Given the description of an element on the screen output the (x, y) to click on. 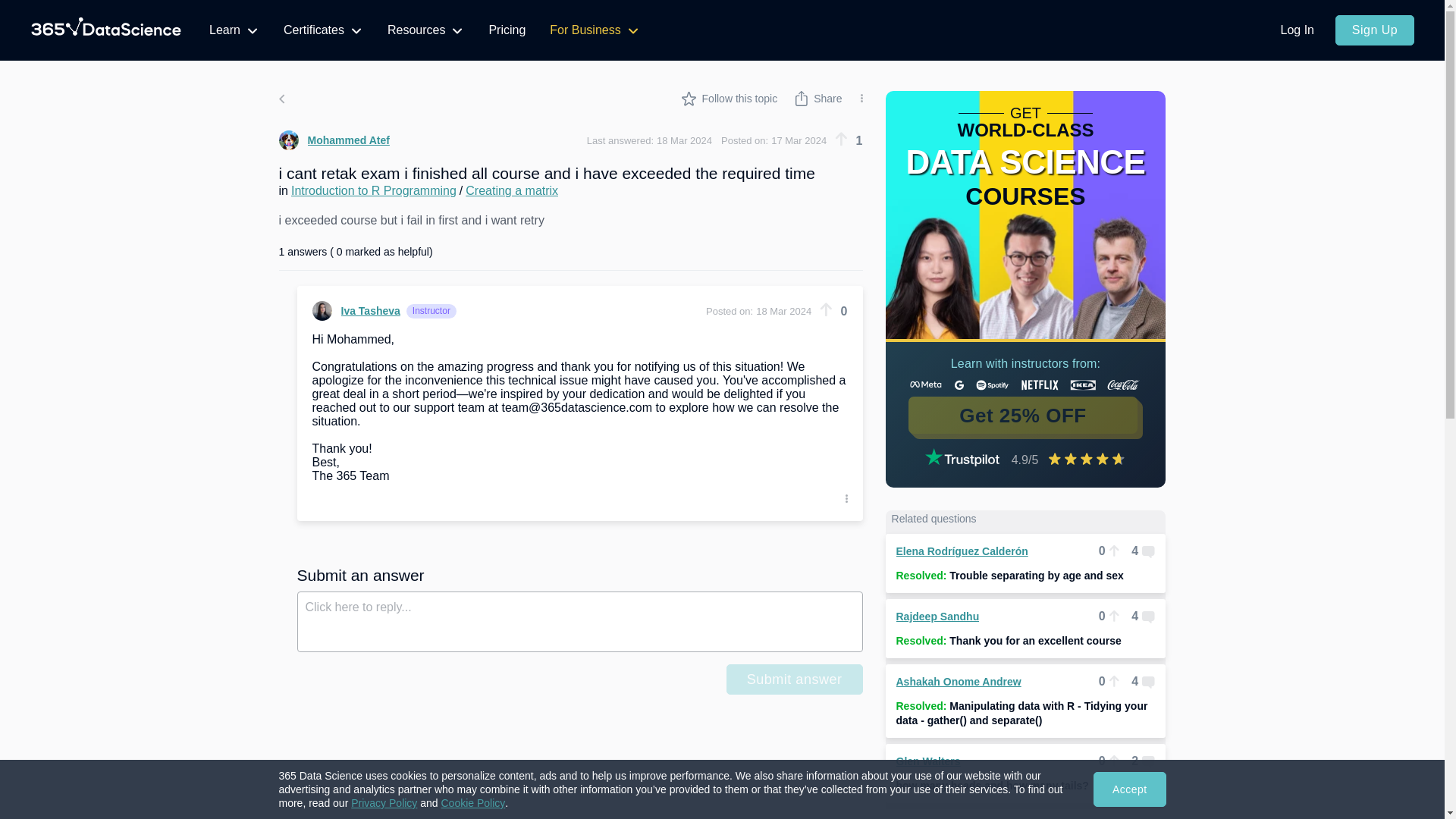
Sign Up (1374, 30)
Pricing (506, 29)
Log In (1296, 29)
Iva Tasheva (356, 311)
Pricing (506, 29)
Introduction to R Programming (374, 191)
Mohammed Atef (334, 139)
365 Data Science (106, 30)
Creating a matrix (511, 191)
